Given the description of an element on the screen output the (x, y) to click on. 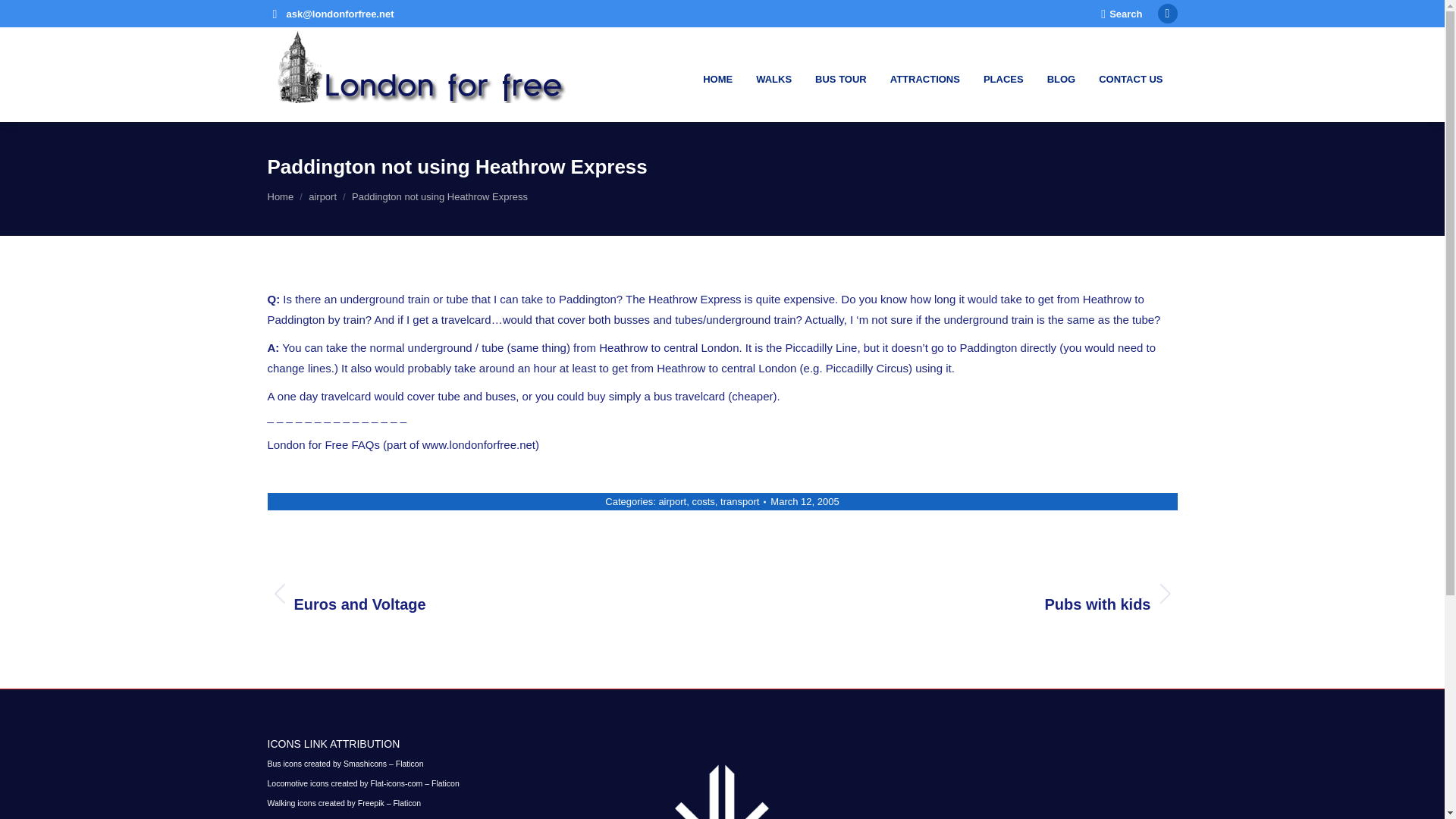
BLOG (1060, 74)
ATTRACTIONS (923, 74)
Go! (24, 16)
airport (322, 196)
costs (482, 593)
4:19 pm (702, 501)
walking icons (804, 501)
Home (343, 802)
airport (280, 196)
airport (322, 196)
Search (671, 501)
bus icons (1120, 12)
Home (960, 593)
